Given the description of an element on the screen output the (x, y) to click on. 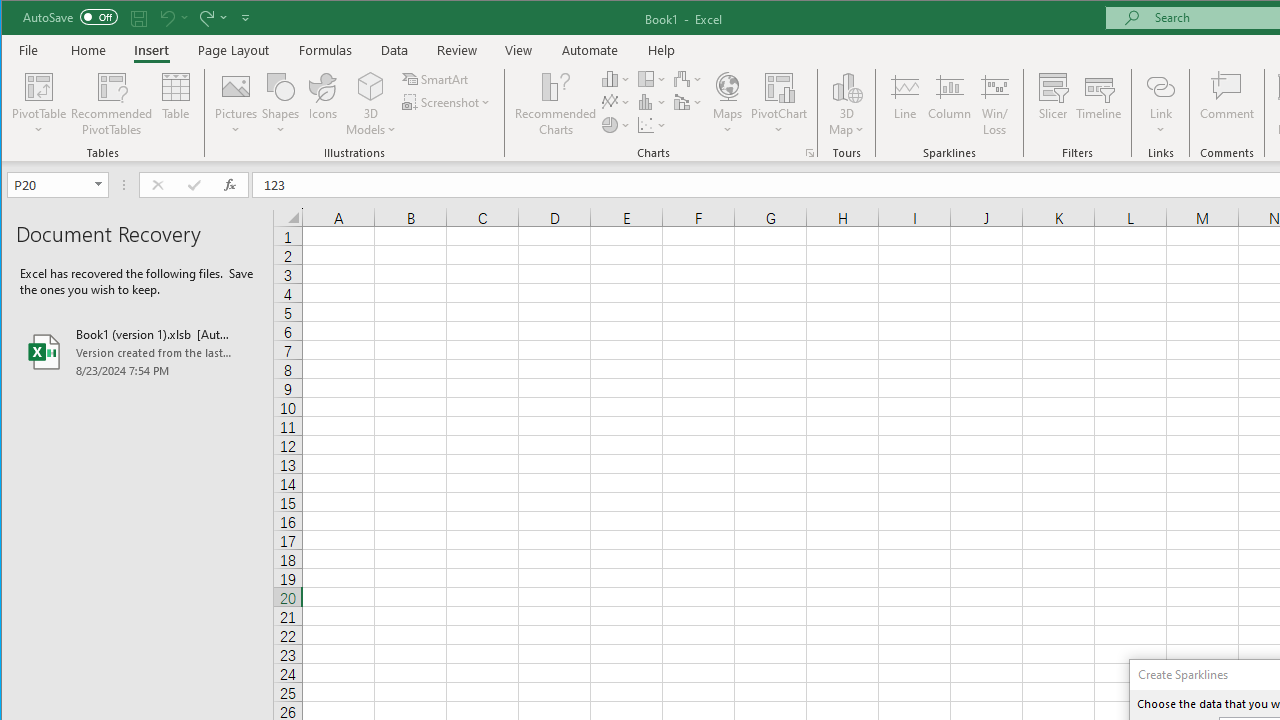
3D Models (371, 104)
Insert Line or Area Chart (616, 101)
Insert Combo Chart (688, 101)
Insert Statistic Chart (652, 101)
Screenshot (447, 101)
3D Models (371, 86)
Shapes (280, 104)
Maps (727, 104)
